Given the description of an element on the screen output the (x, y) to click on. 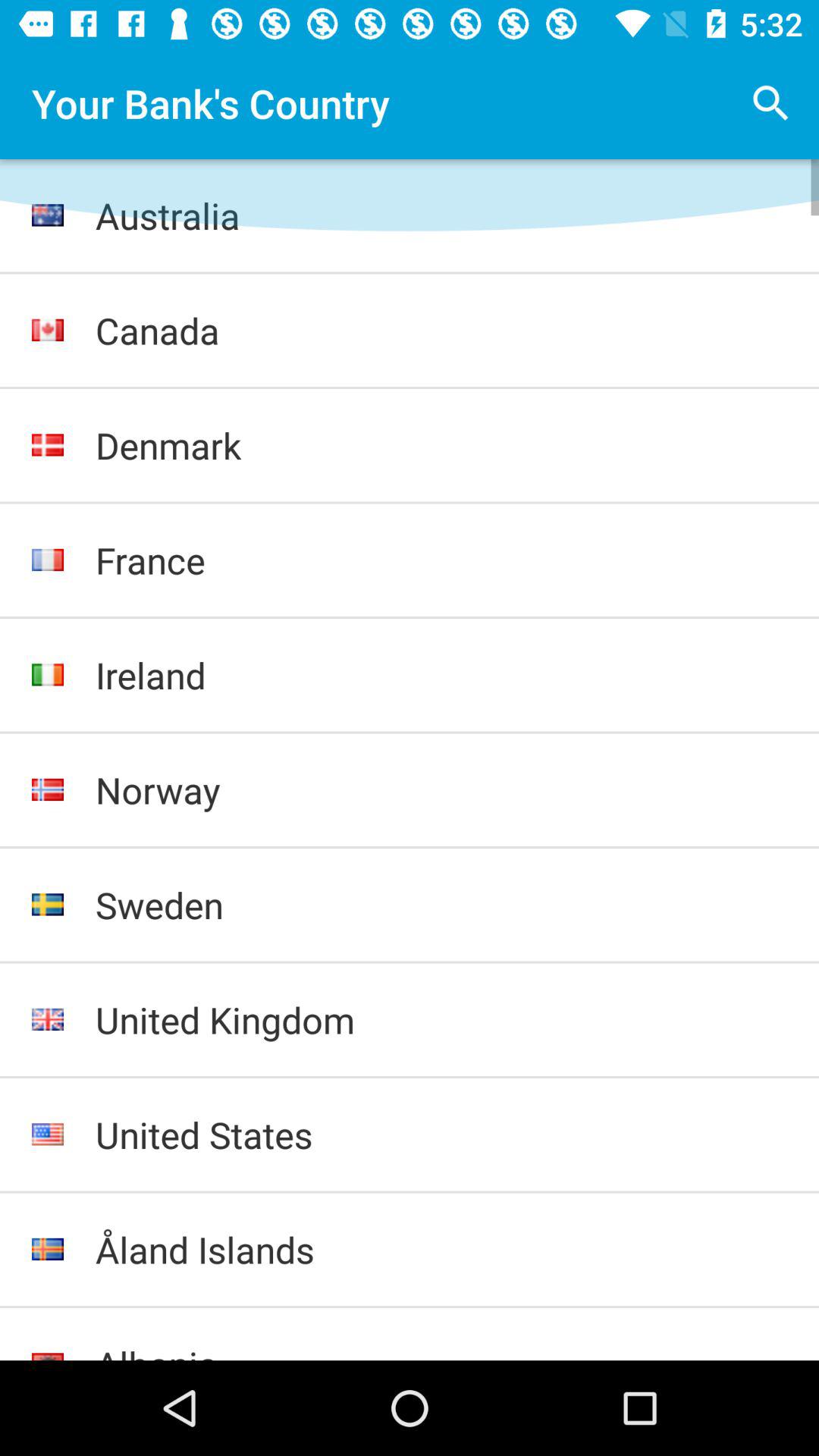
open the item above the united kingdom (441, 904)
